Given the description of an element on the screen output the (x, y) to click on. 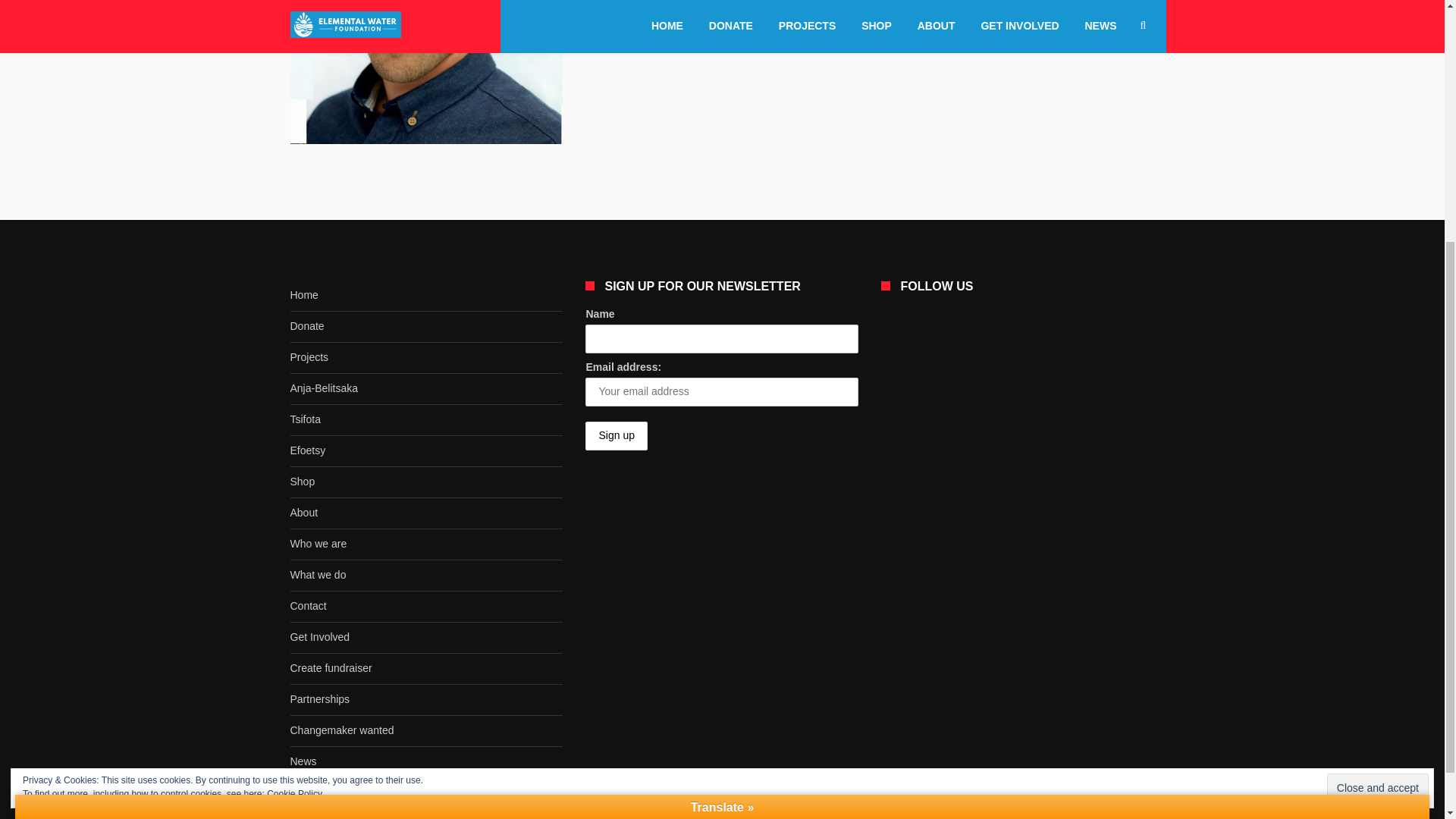
Anja-Belitsaka (425, 388)
What we do (425, 575)
Cookie Policy (293, 437)
Efoetsy (425, 450)
Tsifota (425, 419)
Create fundraiser (425, 668)
Shop (425, 481)
About (425, 513)
Home (425, 296)
Who we are (425, 544)
